Given the description of an element on the screen output the (x, y) to click on. 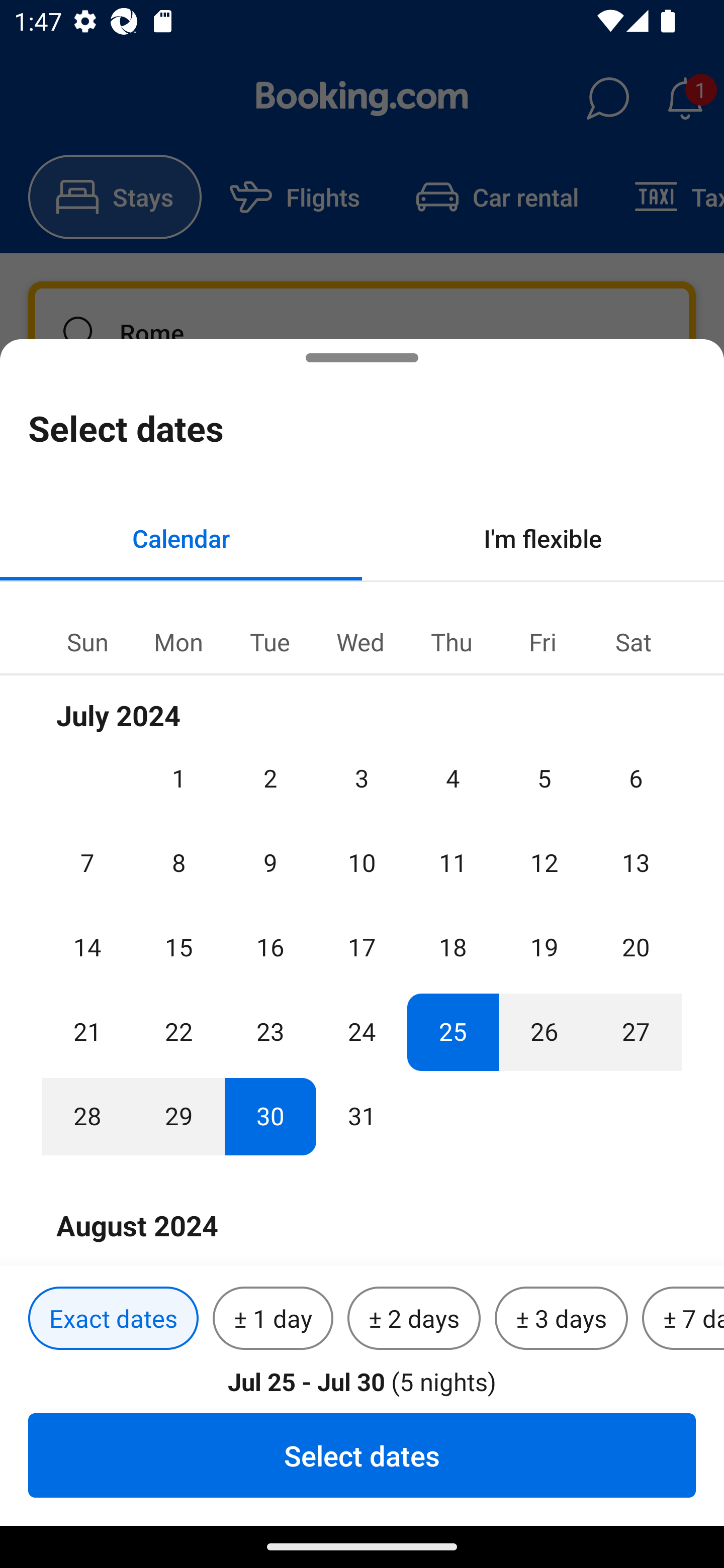
I'm flexible (543, 537)
Exact dates (113, 1318)
± 1 day (272, 1318)
± 2 days (413, 1318)
± 3 days (560, 1318)
± 7 days (683, 1318)
Select dates (361, 1454)
